Given the description of an element on the screen output the (x, y) to click on. 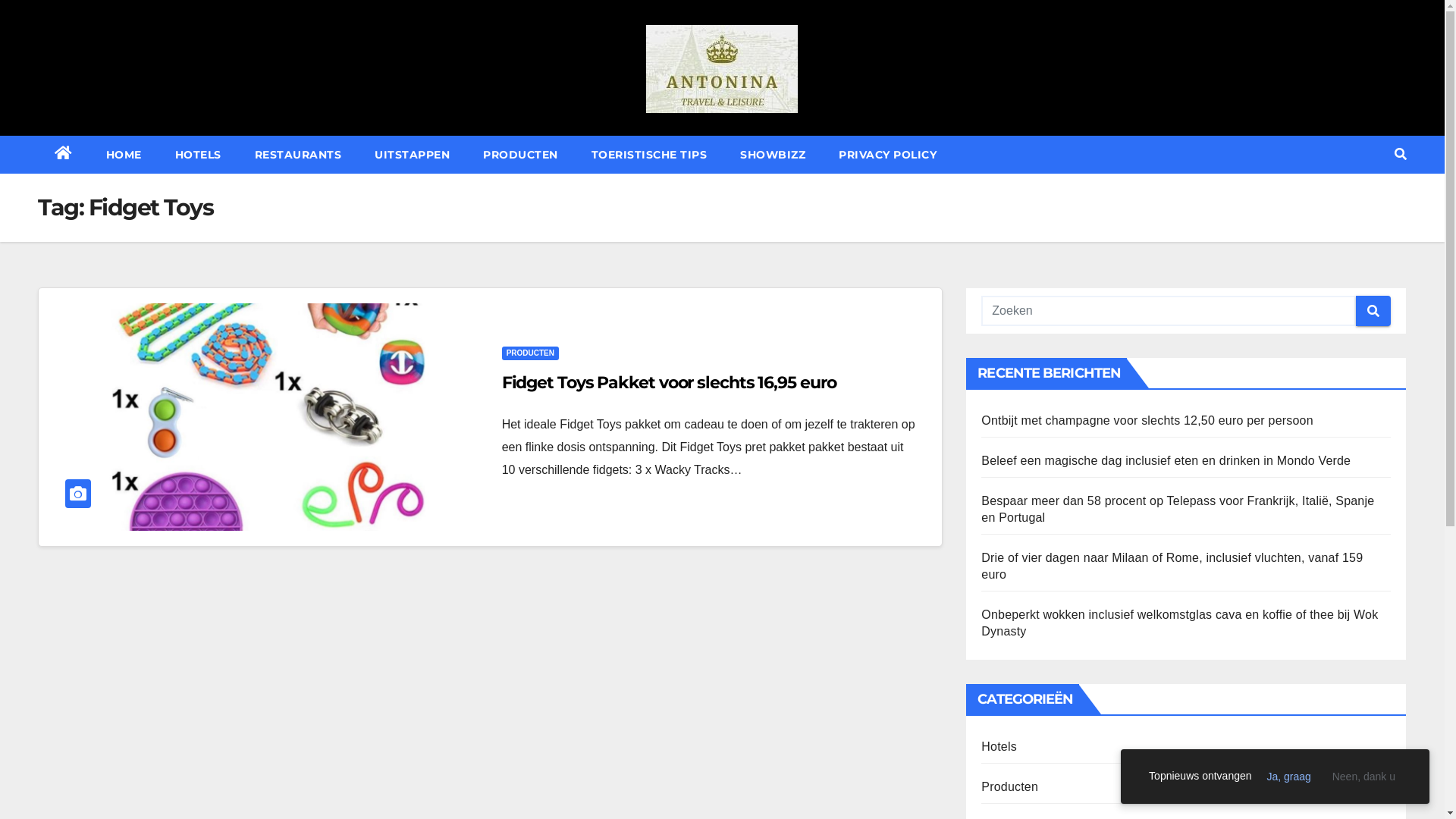
Fidget Toys Pakket voor slechts 16,95 euro Element type: text (669, 382)
Producten Element type: text (1009, 786)
TOERISTISCHE TIPS Element type: text (649, 154)
Ontbijt met champagne voor slechts 12,50 euro per persoon Element type: text (1146, 420)
PRODUCTEN Element type: text (530, 353)
Hotels Element type: text (998, 746)
UITSTAPPEN Element type: text (411, 154)
HOTELS Element type: text (197, 154)
RESTAURANTS Element type: text (298, 154)
SHOWBIZZ Element type: text (772, 154)
PRIVACY POLICY Element type: text (887, 154)
HOME Element type: text (123, 154)
PRODUCTEN Element type: text (520, 154)
